Given the description of an element on the screen output the (x, y) to click on. 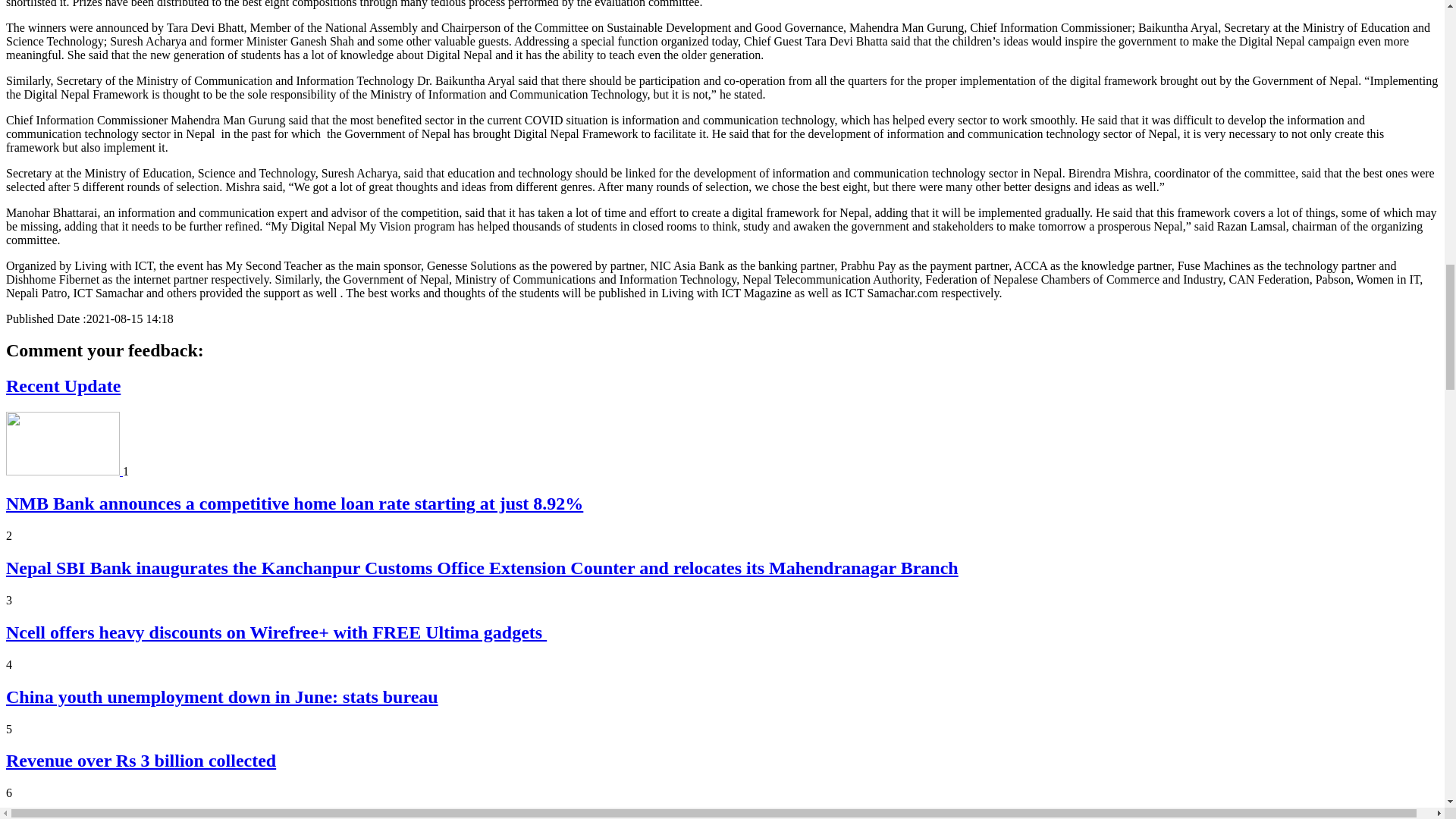
China youth unemployment down in June: stats bureau (221, 696)
Recent Update (62, 385)
Comment your feedback: (104, 350)
Revenue over Rs 3 billion collected (140, 760)
